Given the description of an element on the screen output the (x, y) to click on. 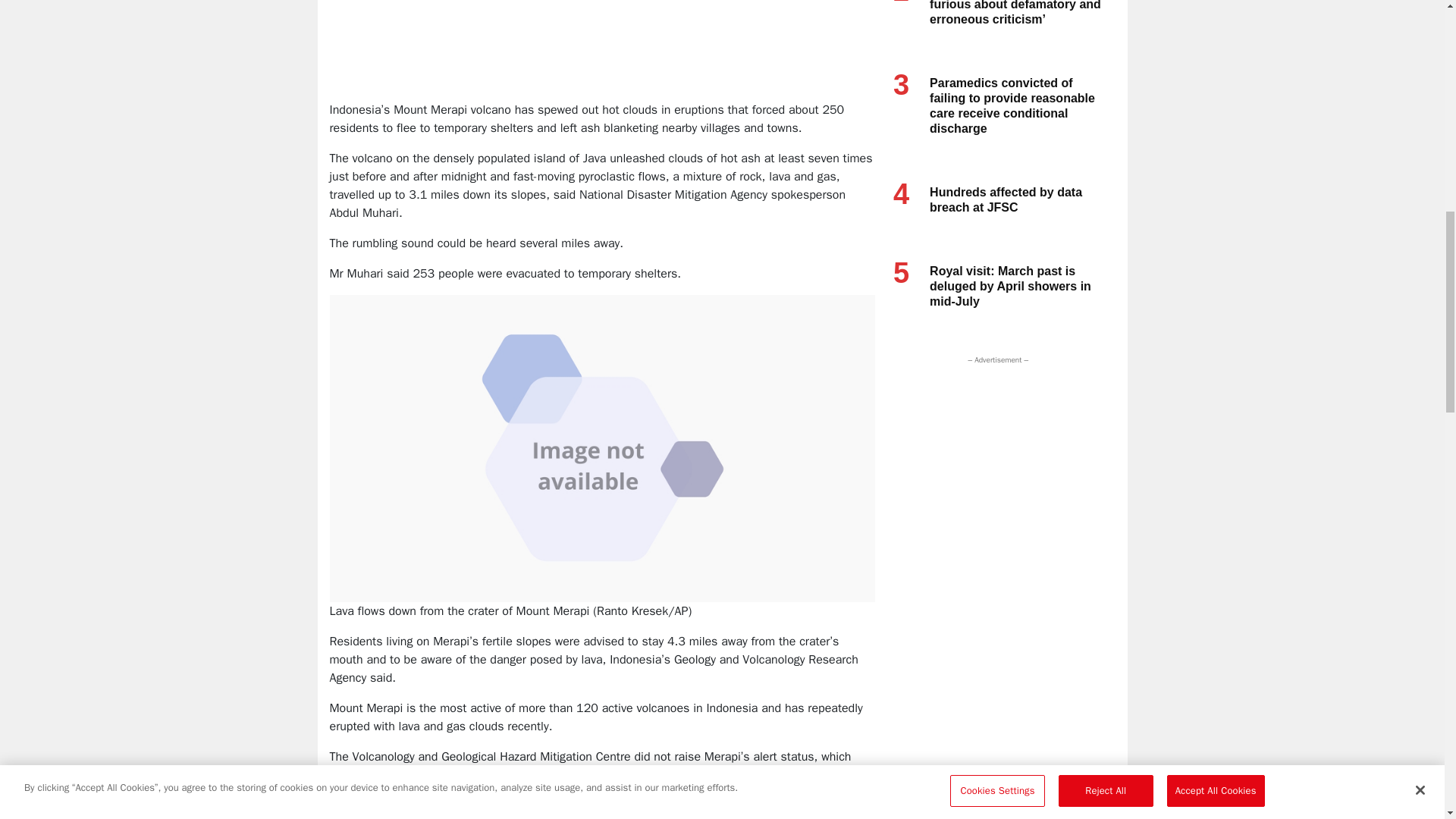
3rd party ad content (604, 51)
3rd party ad content (994, 462)
